Given the description of an element on the screen output the (x, y) to click on. 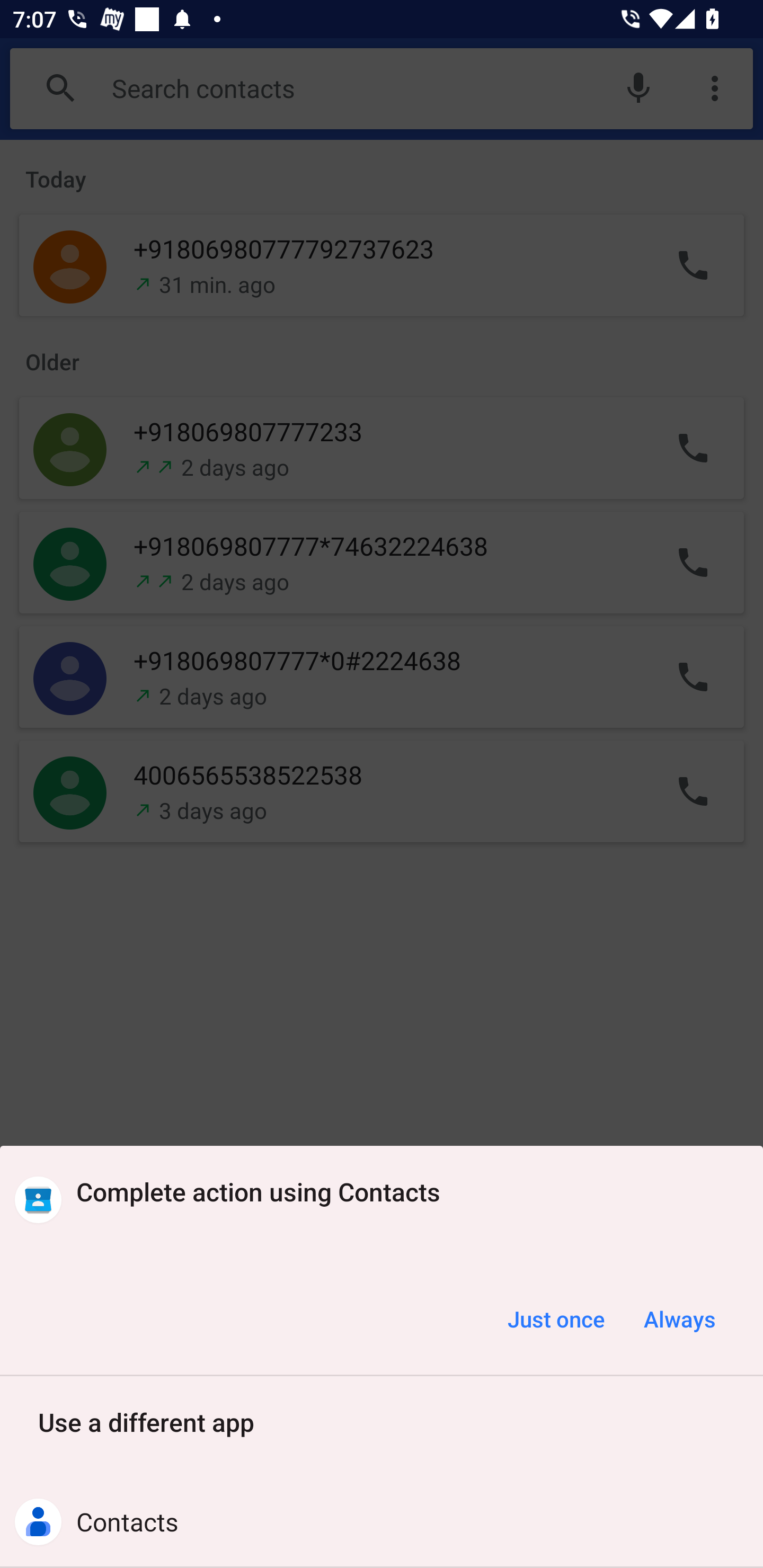
Just once (556, 1319)
Always (679, 1319)
Contacts (381, 1521)
